Given the description of an element on the screen output the (x, y) to click on. 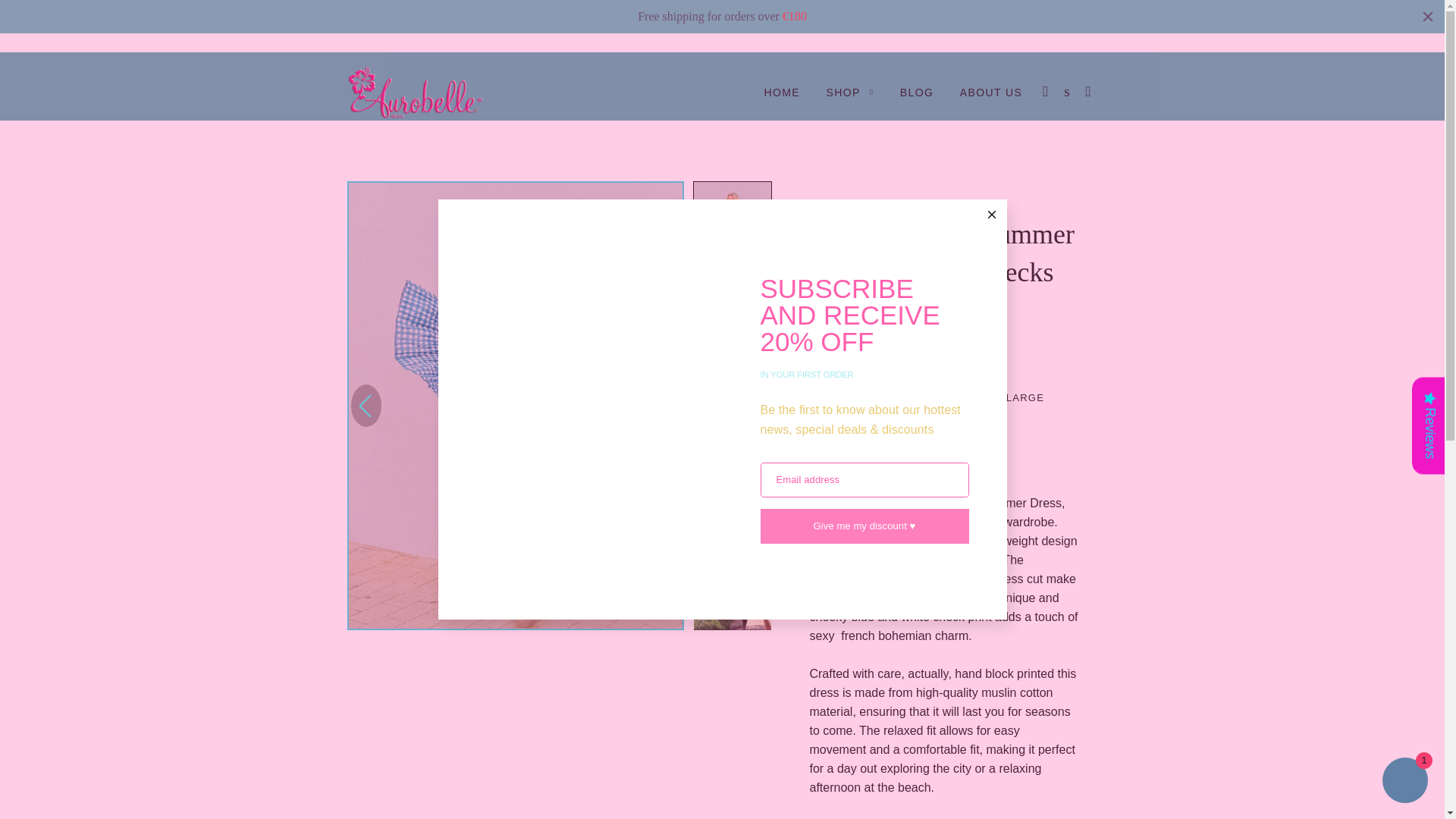
Shopify online store chat (1404, 781)
